Given the description of an element on the screen output the (x, y) to click on. 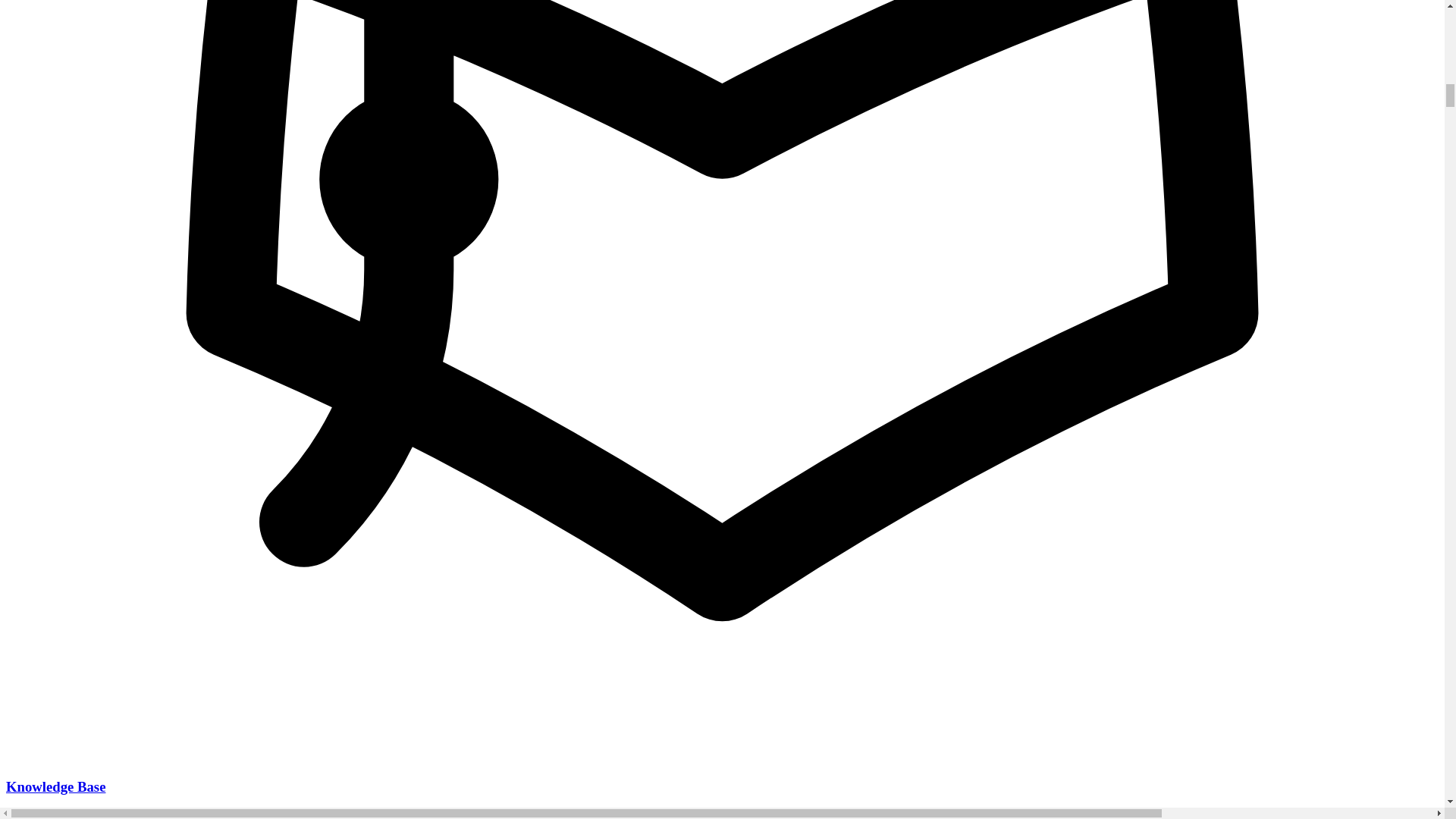
Knowledge Base (54, 786)
